Given the description of an element on the screen output the (x, y) to click on. 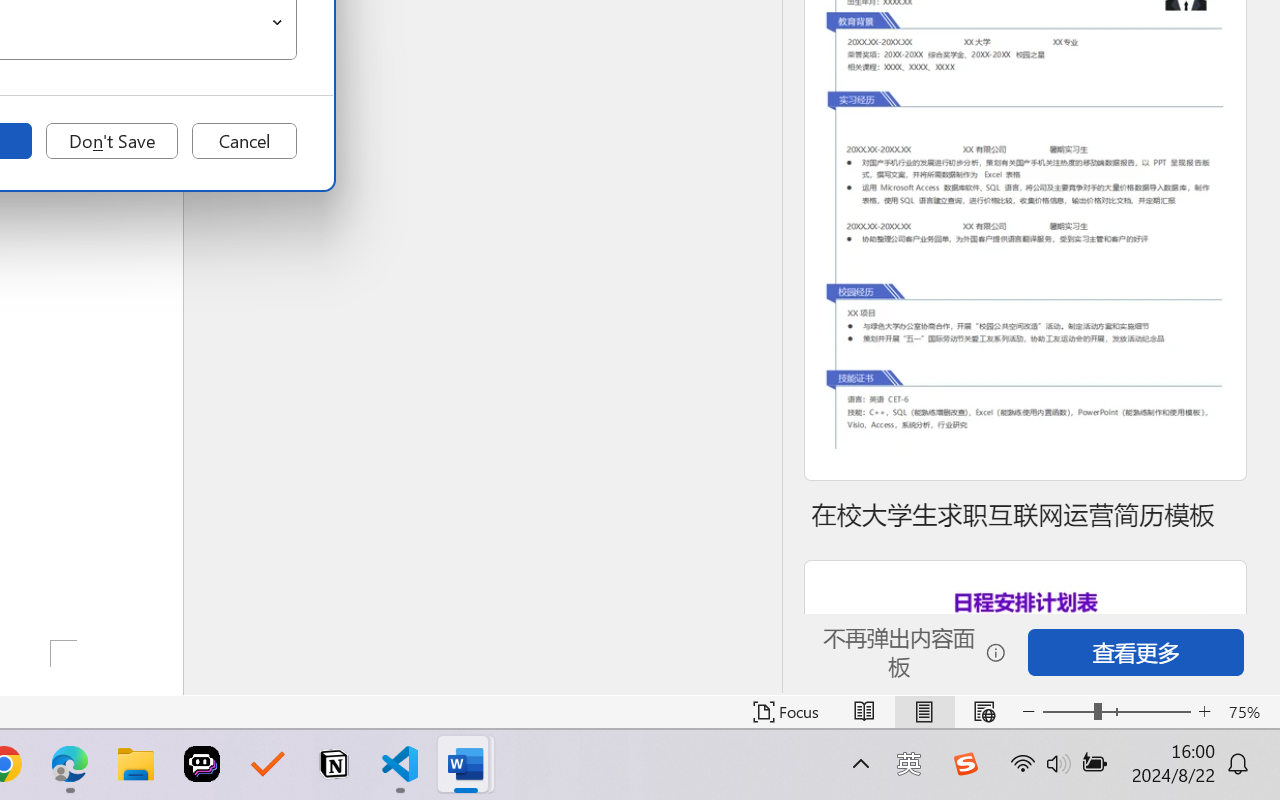
Focus  (786, 712)
Web Layout (984, 712)
Zoom Out (1067, 712)
Don't Save (111, 141)
Zoom In (1204, 712)
Class: Image (965, 764)
